Given the description of an element on the screen output the (x, y) to click on. 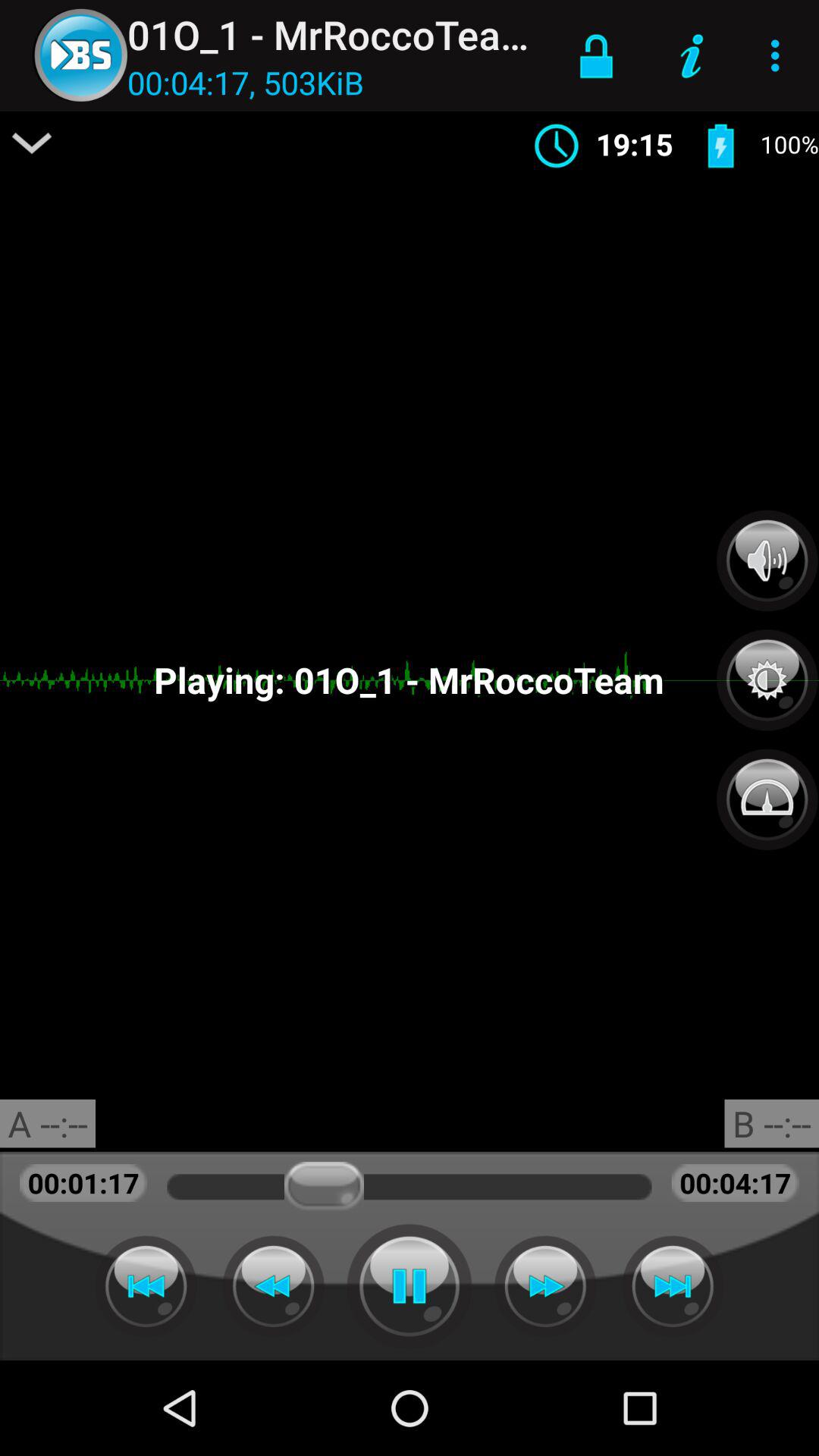
pause (409, 1286)
